Given the description of an element on the screen output the (x, y) to click on. 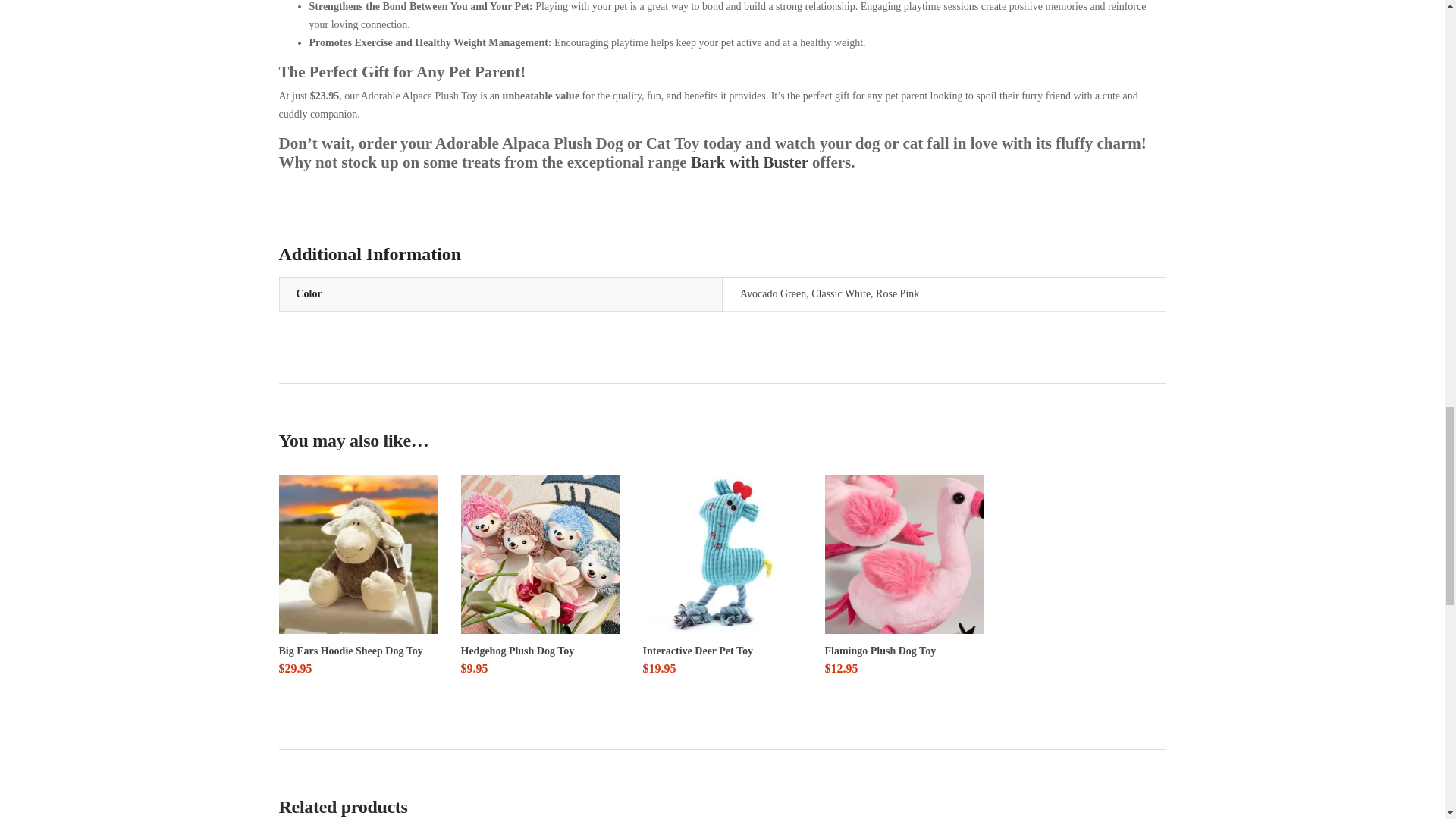
Big Ears Hoodie Sheep Dog Toy (358, 554)
